Given the description of an element on the screen output the (x, y) to click on. 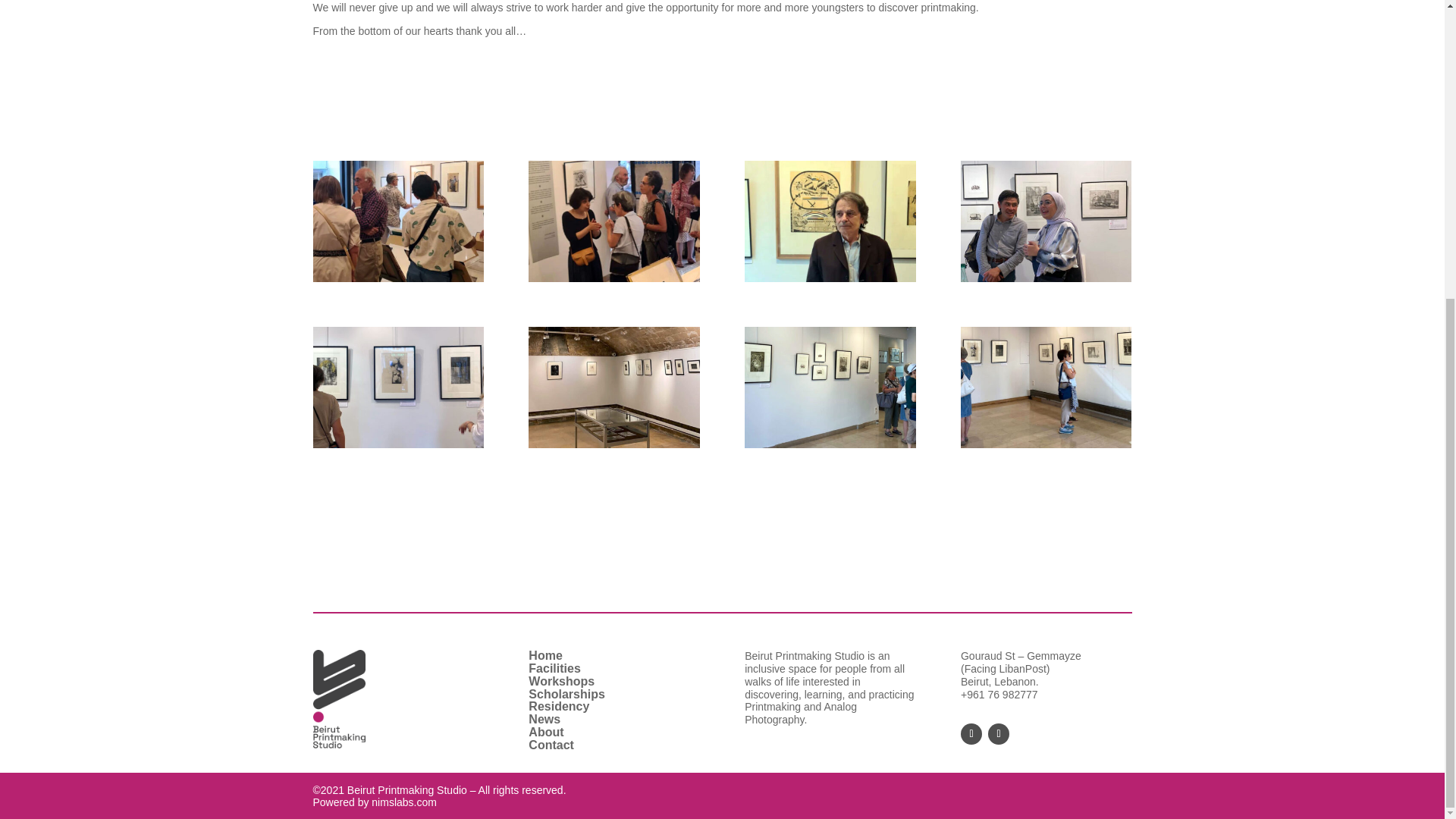
Beirut Printmaking Studio at Fondation Tailor Paris (613, 448)
Follow on Facebook (970, 733)
Beirut Printmaking Studio at Fondation Tailor Paris (398, 448)
Beirut Printmaking Studio at Fondation Tailor Paris (1045, 448)
Beirut Printmaking Studio at Fondation Tailor Paris (398, 282)
Beirut Printmaking Studio at Fondation Tailor Paris (613, 282)
Beirut Printmaking Studio at Fondation Tailor Paris (1045, 282)
Beirut Printmaking Studio at Fondation Tailor Paris (829, 282)
Beirut Printmaking Studio at Fondation Tailor Paris (829, 448)
Follow on Instagram (998, 733)
